Given the description of an element on the screen output the (x, y) to click on. 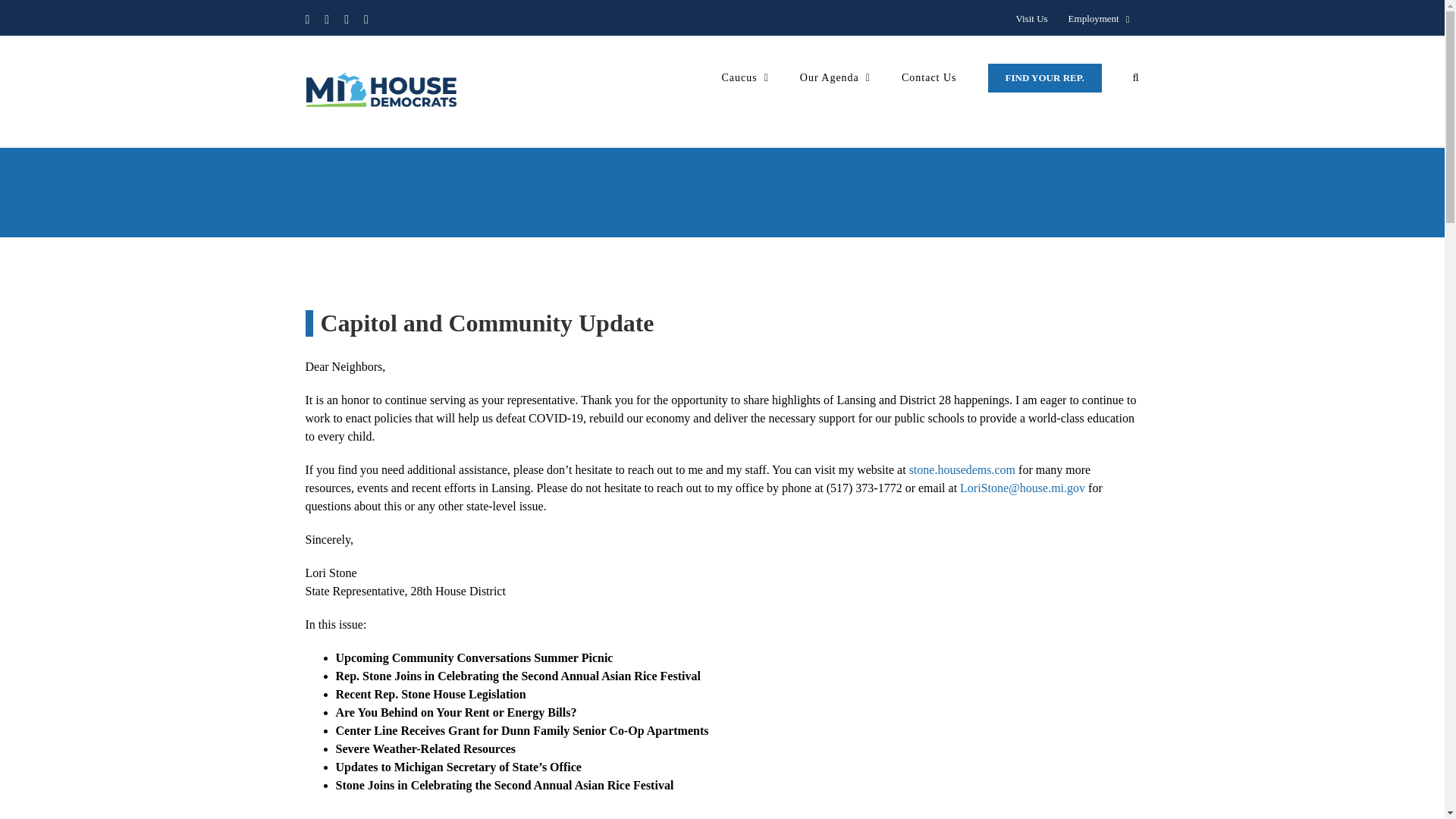
FIND YOUR REP. (1045, 78)
Employment (1099, 19)
Our Agenda (834, 78)
Visit Us (1031, 19)
